Given the description of an element on the screen output the (x, y) to click on. 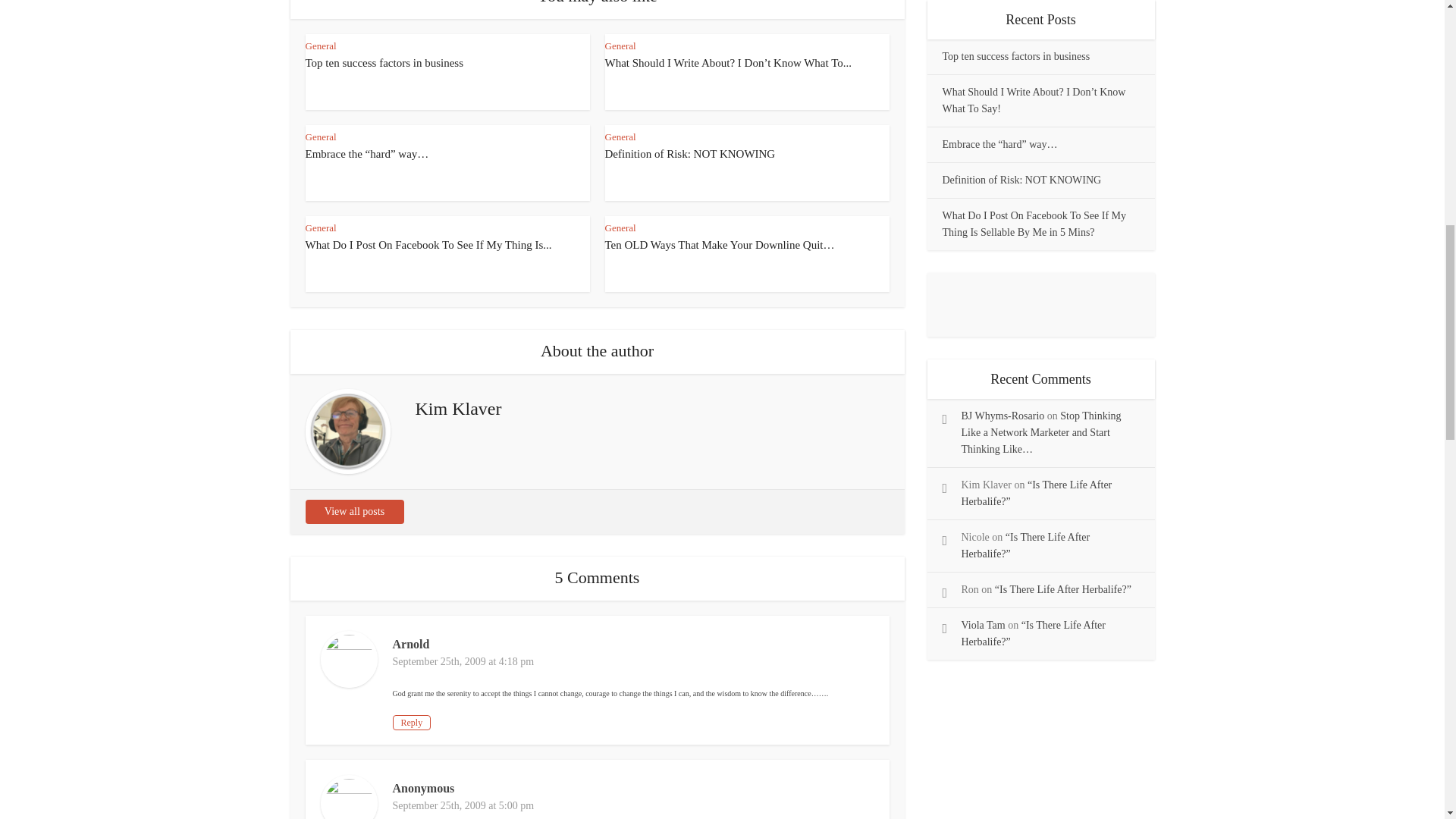
What Do I Post On Facebook To See If My Thing Is... (427, 244)
Definition of Risk: NOT KNOWING (690, 153)
Top ten success factors in business (383, 62)
September 25th, 2009 at 5:00 pm (463, 805)
General (620, 227)
General (620, 136)
General (320, 45)
General (620, 45)
Top ten success factors in business (383, 62)
Definition of Risk: NOT KNOWING (690, 153)
